Given the description of an element on the screen output the (x, y) to click on. 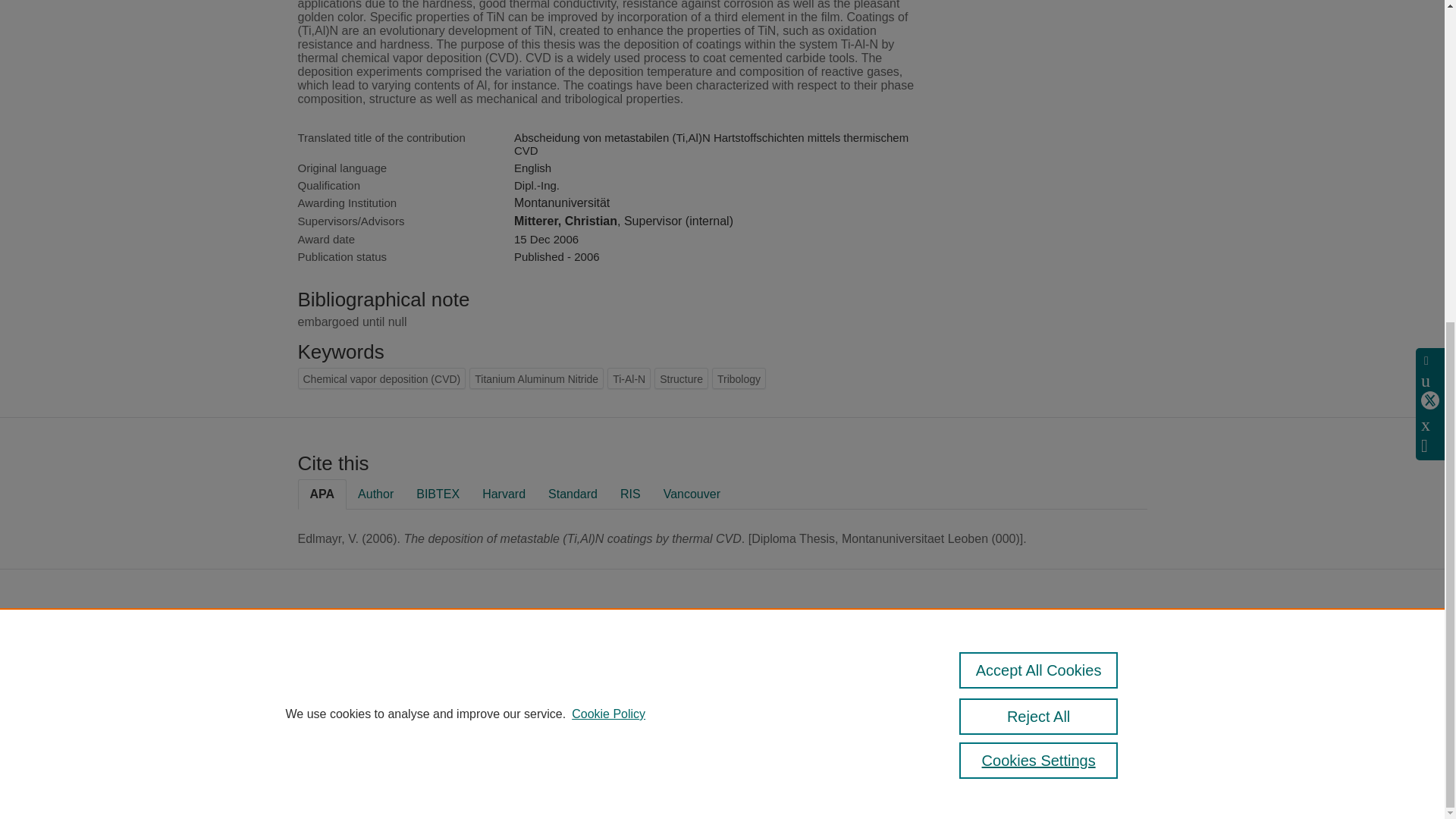
Report vulnerability (1064, 696)
Log in to Pure (584, 760)
About web accessibility (1073, 676)
Elsevier B.V. (764, 665)
Cookies Settings (591, 740)
Accept All Cookies (1038, 144)
Reject All (1038, 190)
Cookies Settings (1038, 235)
Legal notice (581, 781)
Cookie Policy (608, 187)
Pure (620, 644)
Scopus (652, 644)
use of cookies (614, 719)
